Given the description of an element on the screen output the (x, y) to click on. 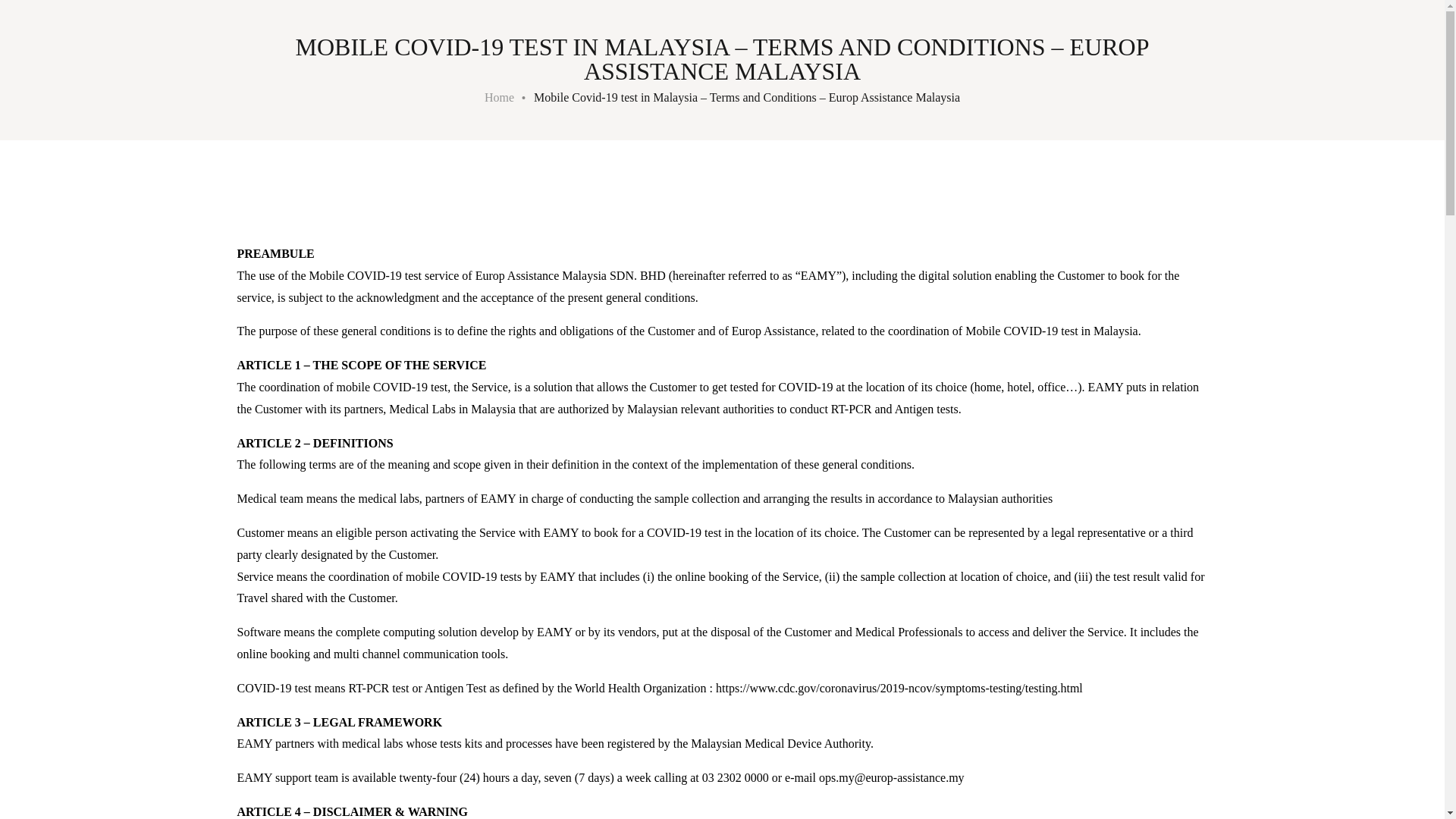
Home (498, 97)
